Given the description of an element on the screen output the (x, y) to click on. 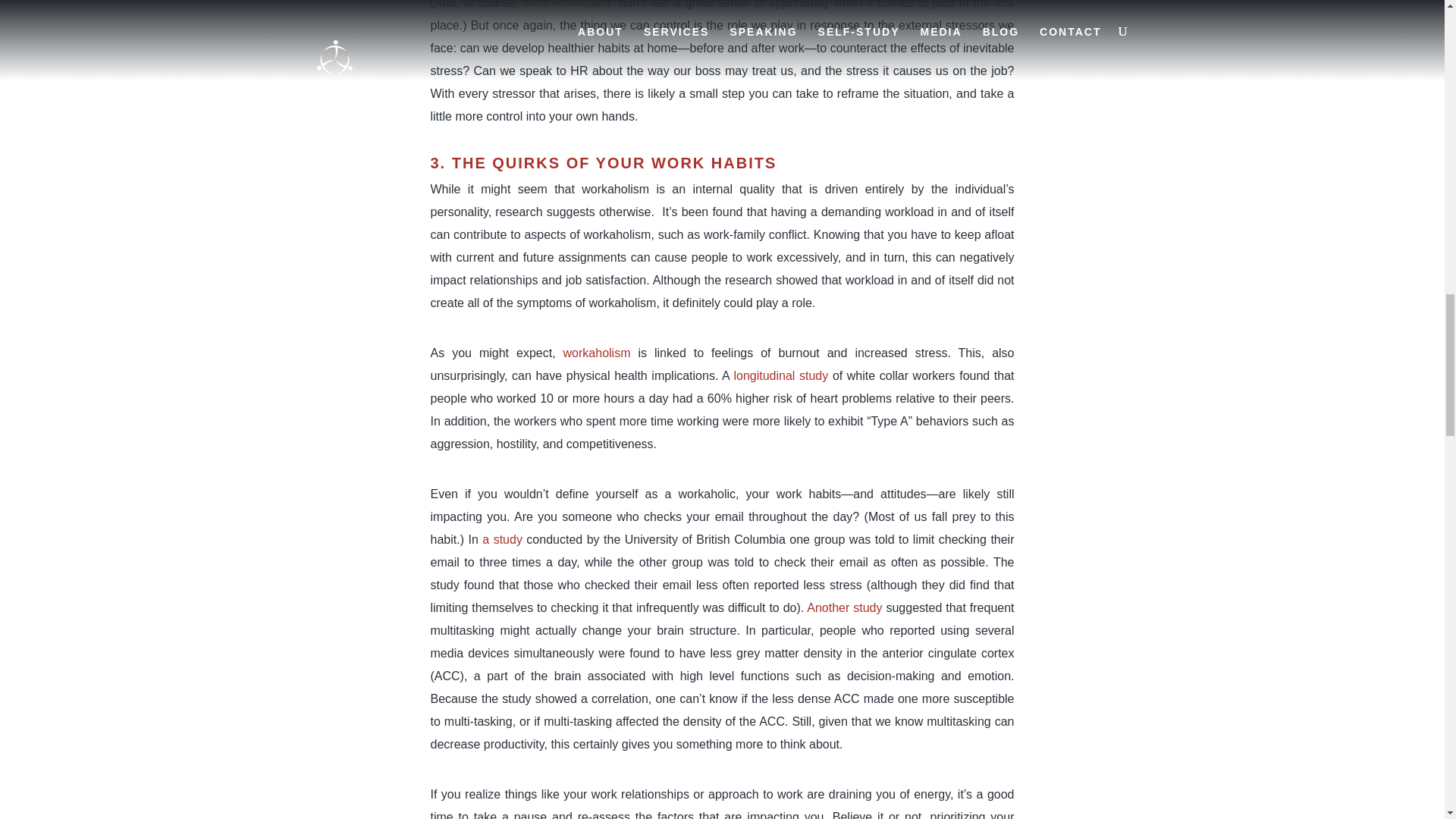
research (518, 211)
workaholism (596, 352)
most Americans (566, 4)
a study (501, 539)
longitudinal study (780, 375)
Another study (844, 607)
